Given the description of an element on the screen output the (x, y) to click on. 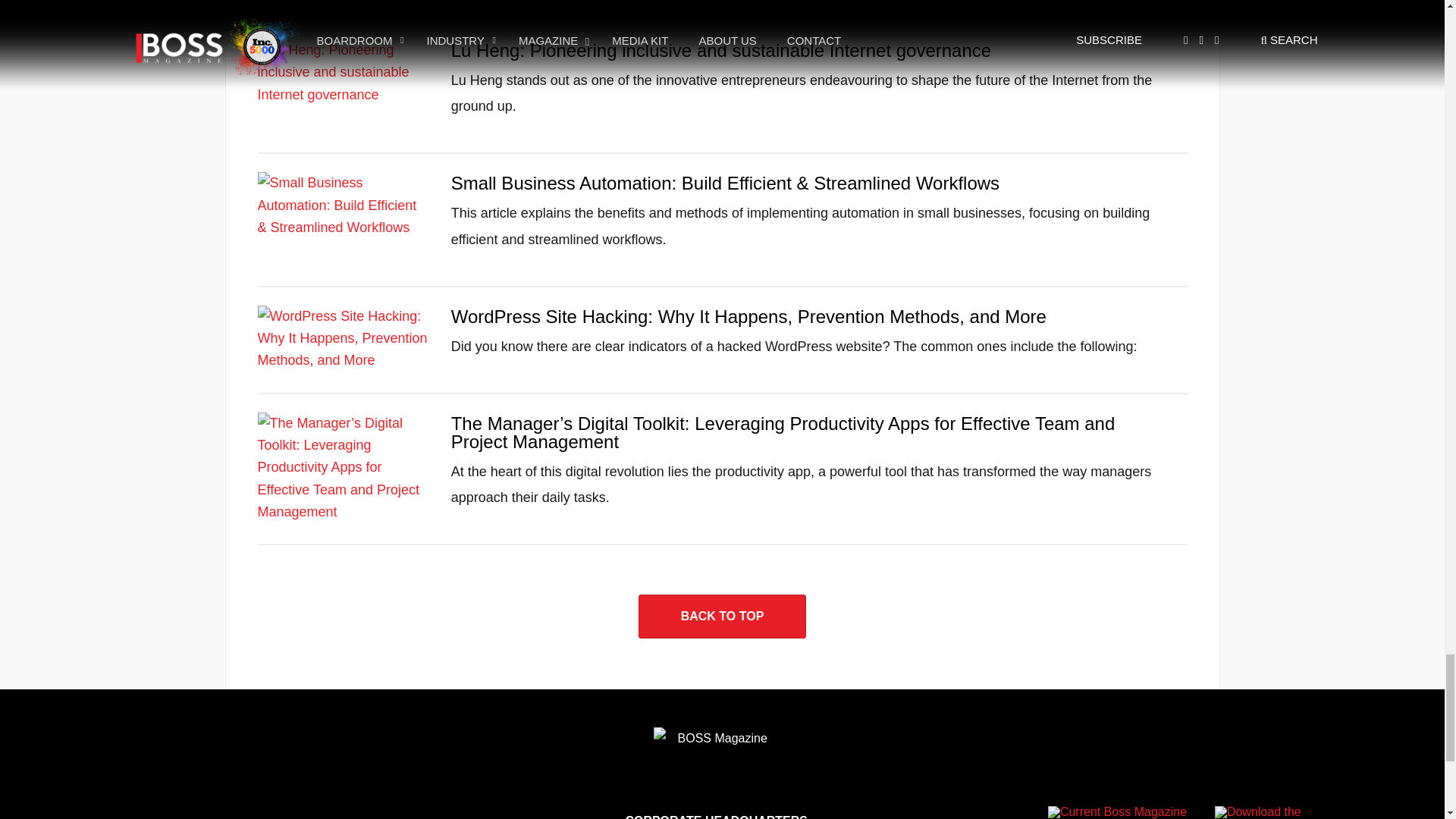
Download the BOSS Magazine App on the Apple App Store (1257, 812)
BOSS Magazine (715, 748)
Current BOSS Magazine Publication (1127, 812)
